Given the description of an element on the screen output the (x, y) to click on. 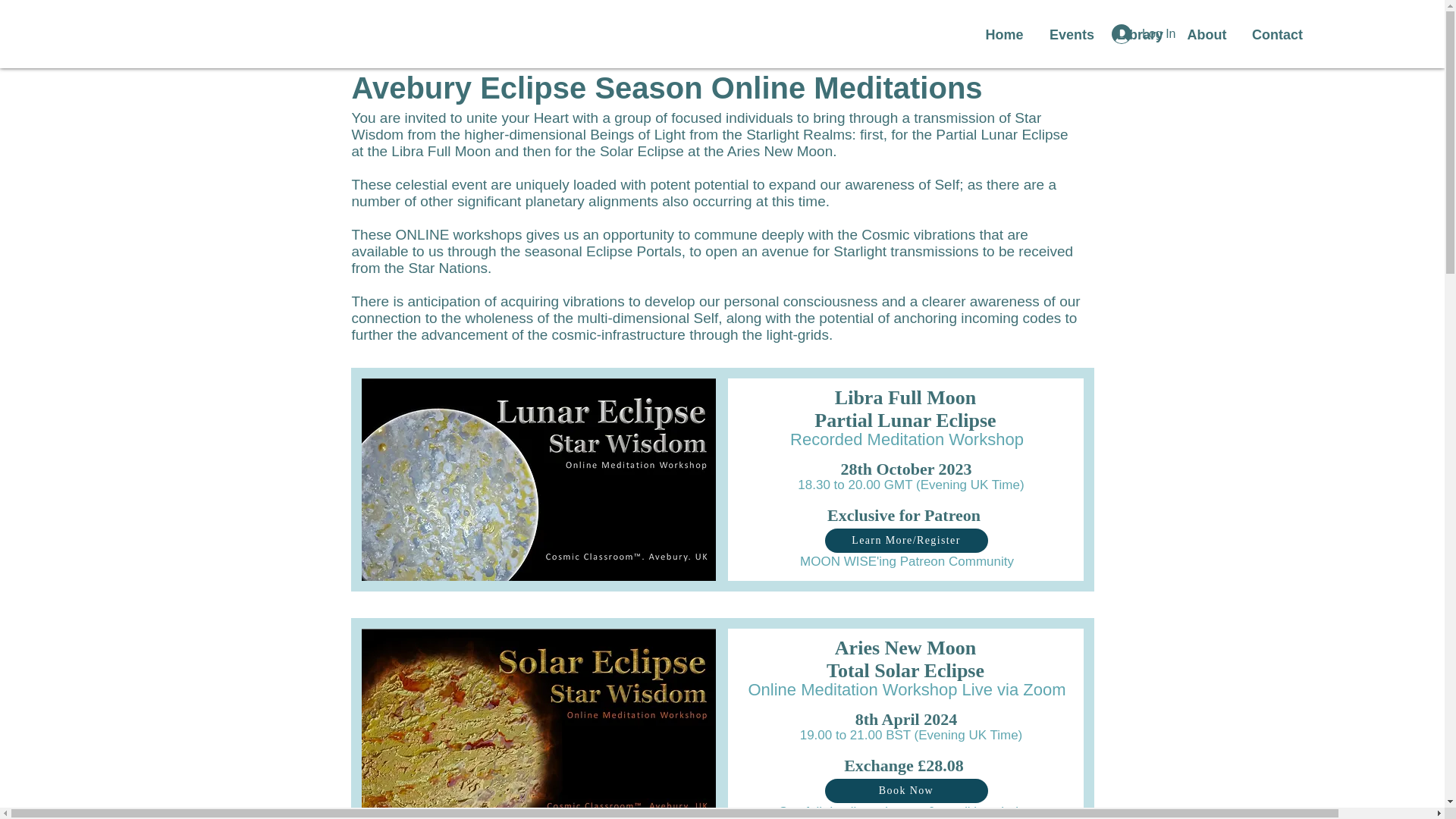
Book Now (906, 790)
Events (1071, 35)
Contact (1273, 35)
Library (1139, 35)
About (1206, 35)
Home (1004, 35)
Log In (1143, 33)
